Given the description of an element on the screen output the (x, y) to click on. 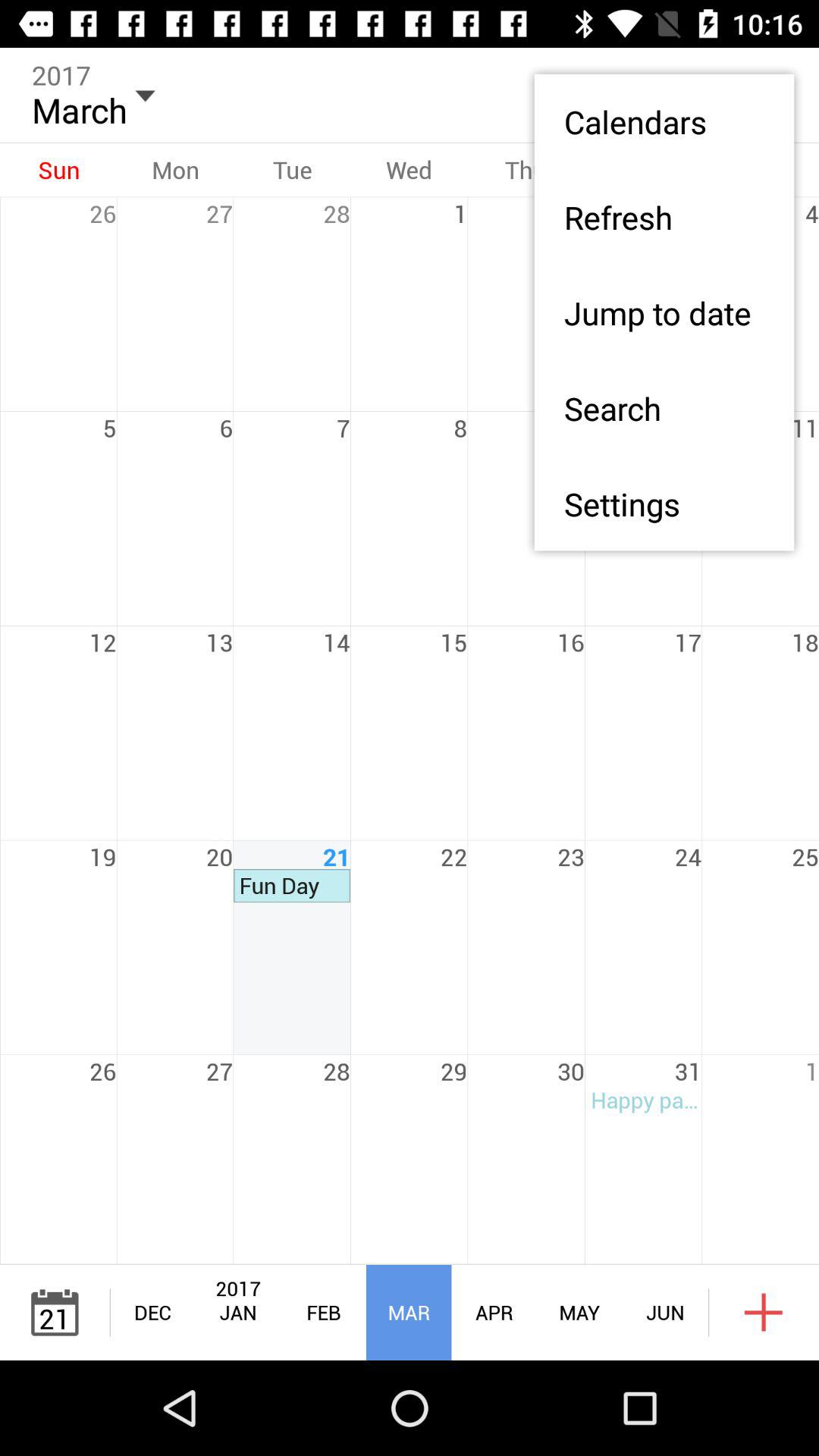
press icon below the calendars app (664, 217)
